Given the description of an element on the screen output the (x, y) to click on. 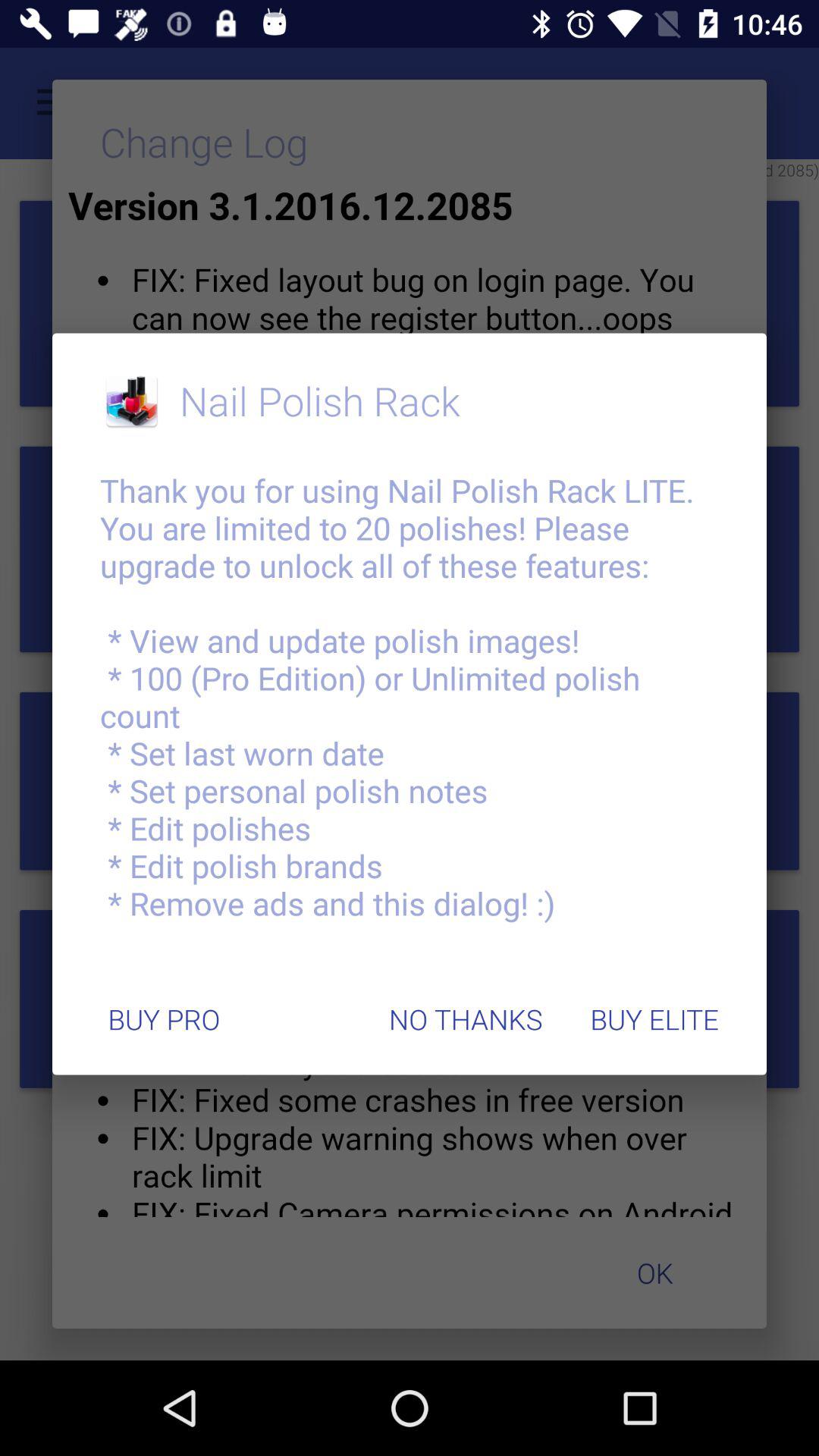
scroll to no thanks icon (465, 1018)
